Given the description of an element on the screen output the (x, y) to click on. 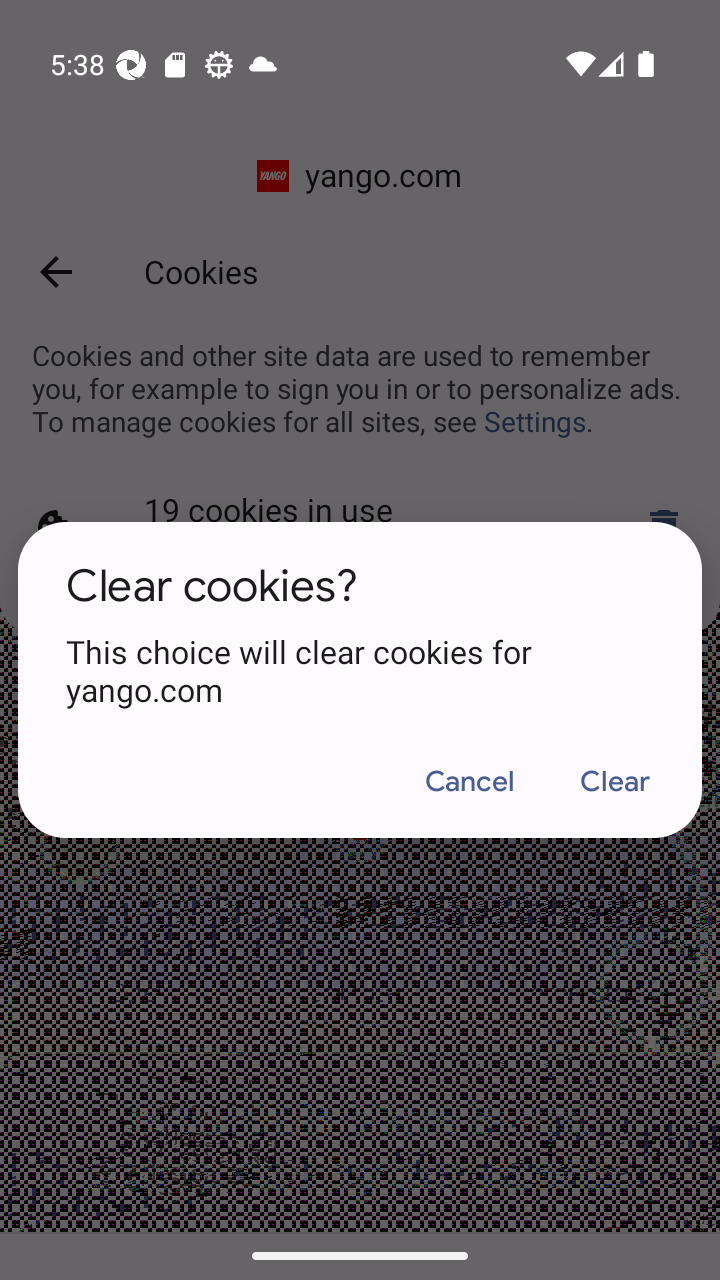
Cancel (470, 781)
Clear (614, 781)
